Given the description of an element on the screen output the (x, y) to click on. 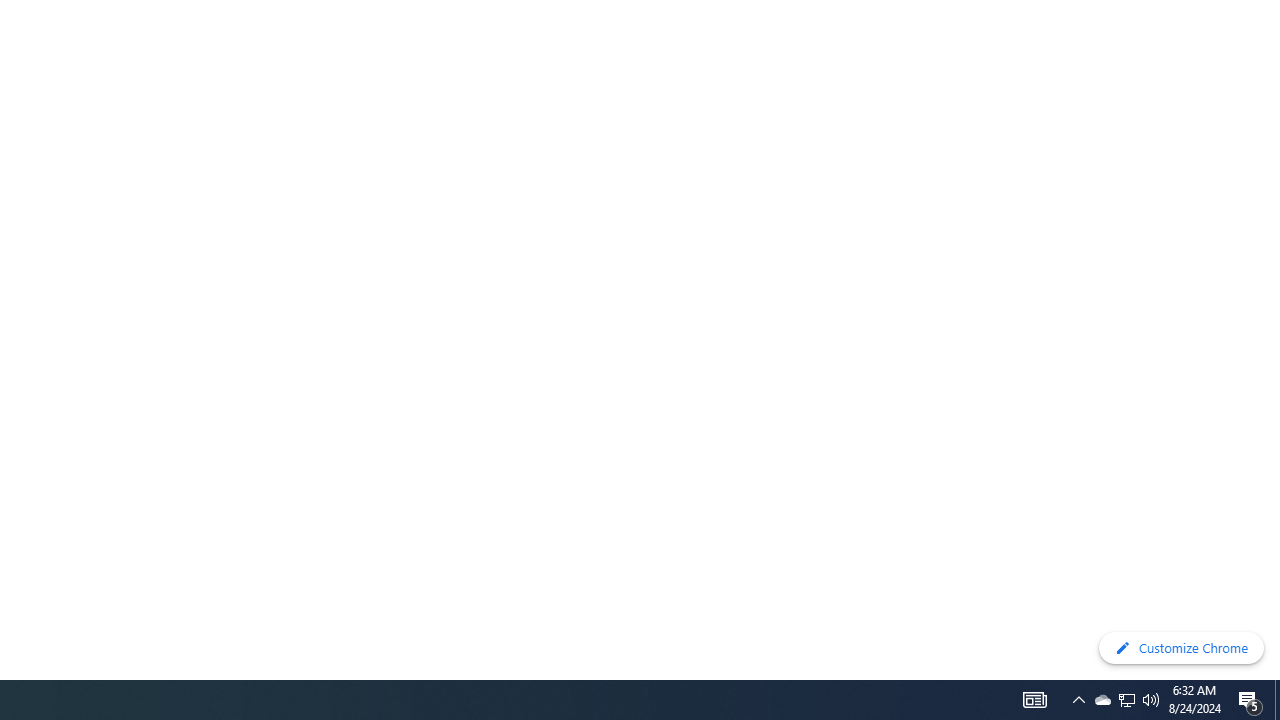
Customize Chrome (1181, 647)
